Given the description of an element on the screen output the (x, y) to click on. 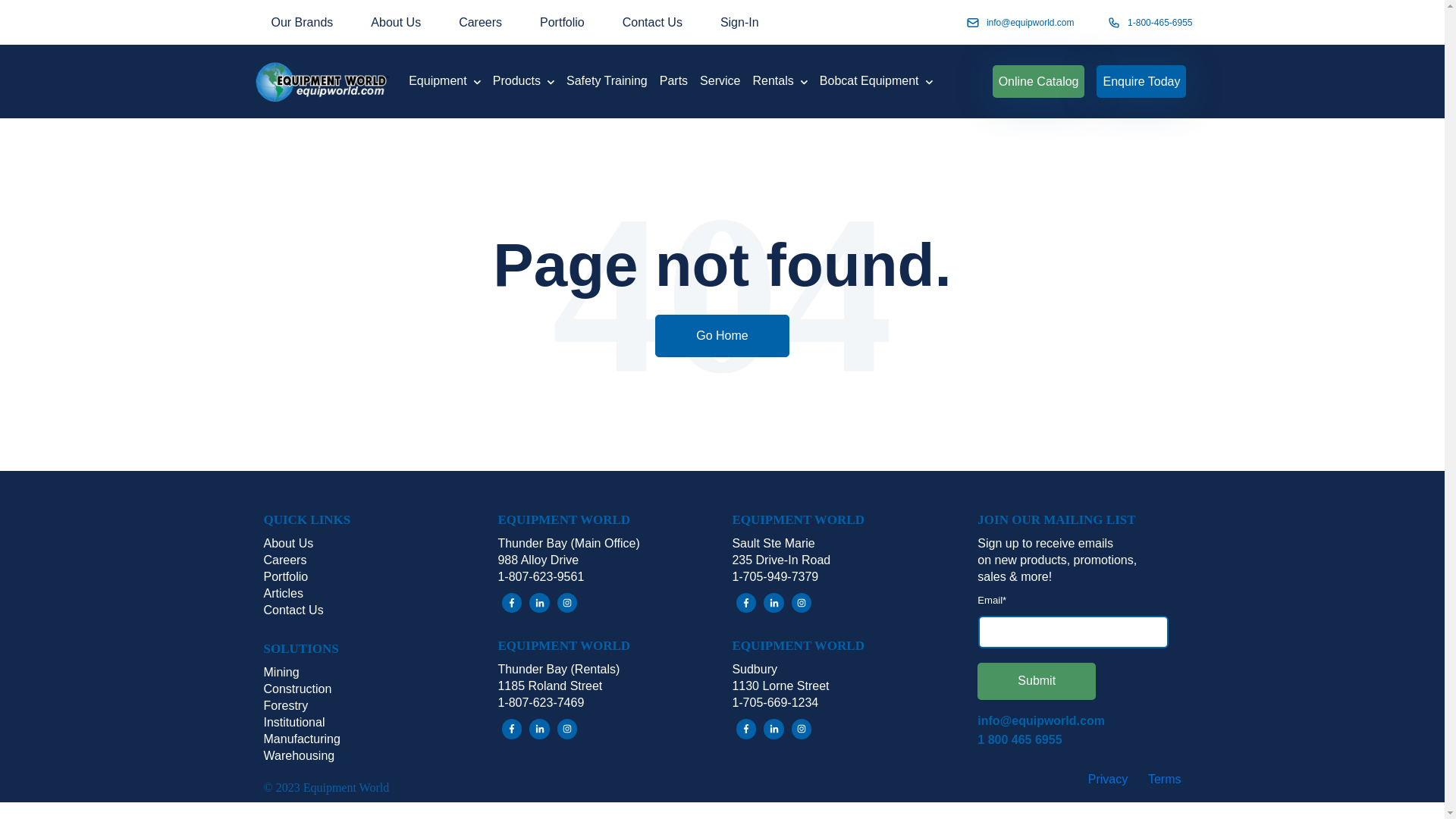
Careers (480, 21)
Submit (1036, 680)
Portfolio (562, 21)
1-800-465-6955 (1159, 21)
Sign-In (739, 21)
Equipment (451, 81)
About Us (395, 21)
Our Brands (301, 21)
Products (529, 81)
Contact Us (652, 21)
